Given the description of an element on the screen output the (x, y) to click on. 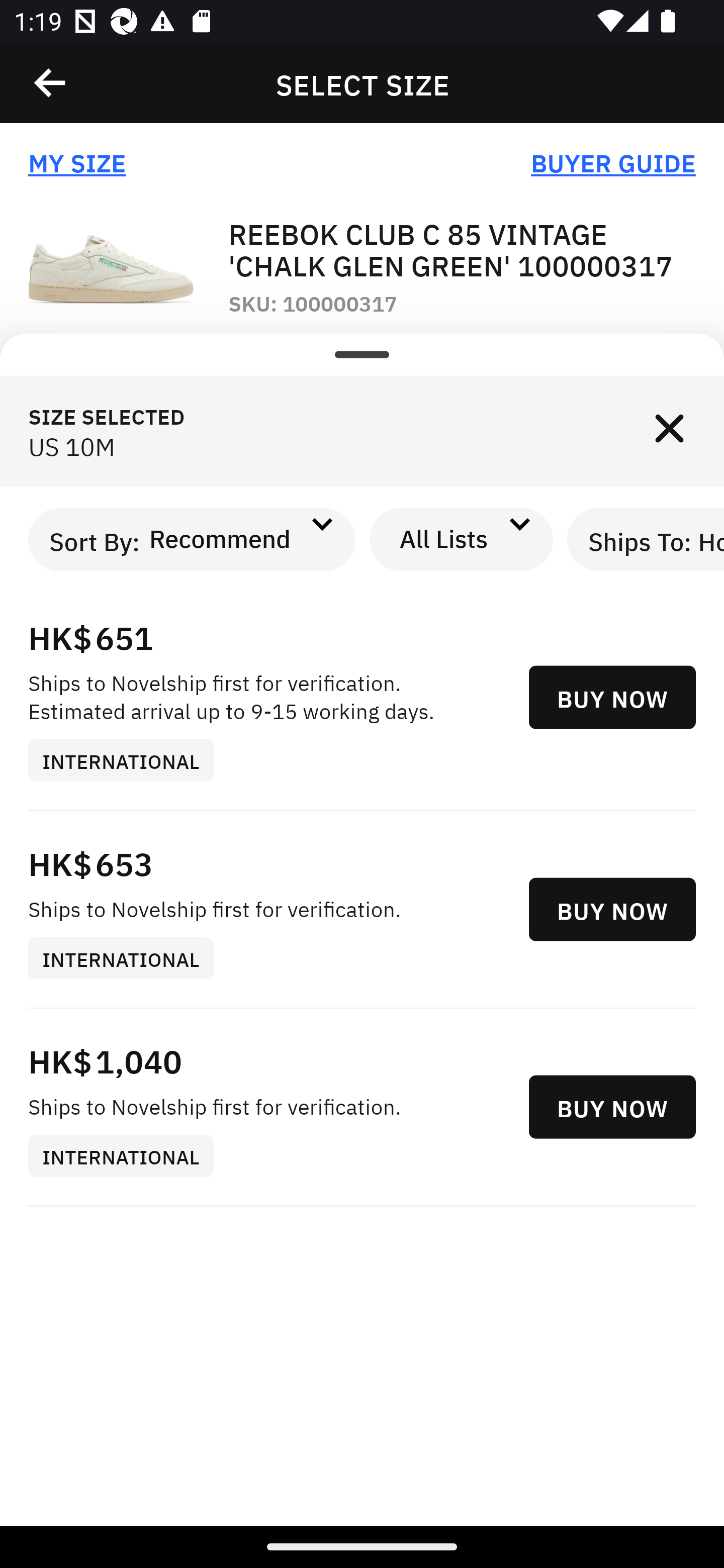
 (50, 83)
 (668, 430)
Recommend  (237, 539)
All Lists  (461, 539)
Ships To: Hong Kong (645, 539)
BUY NOW (612, 697)
INTERNATIONAL (128, 759)
BUY NOW (612, 909)
INTERNATIONAL (128, 958)
BUY NOW (612, 1106)
INTERNATIONAL (128, 1156)
